Given the description of an element on the screen output the (x, y) to click on. 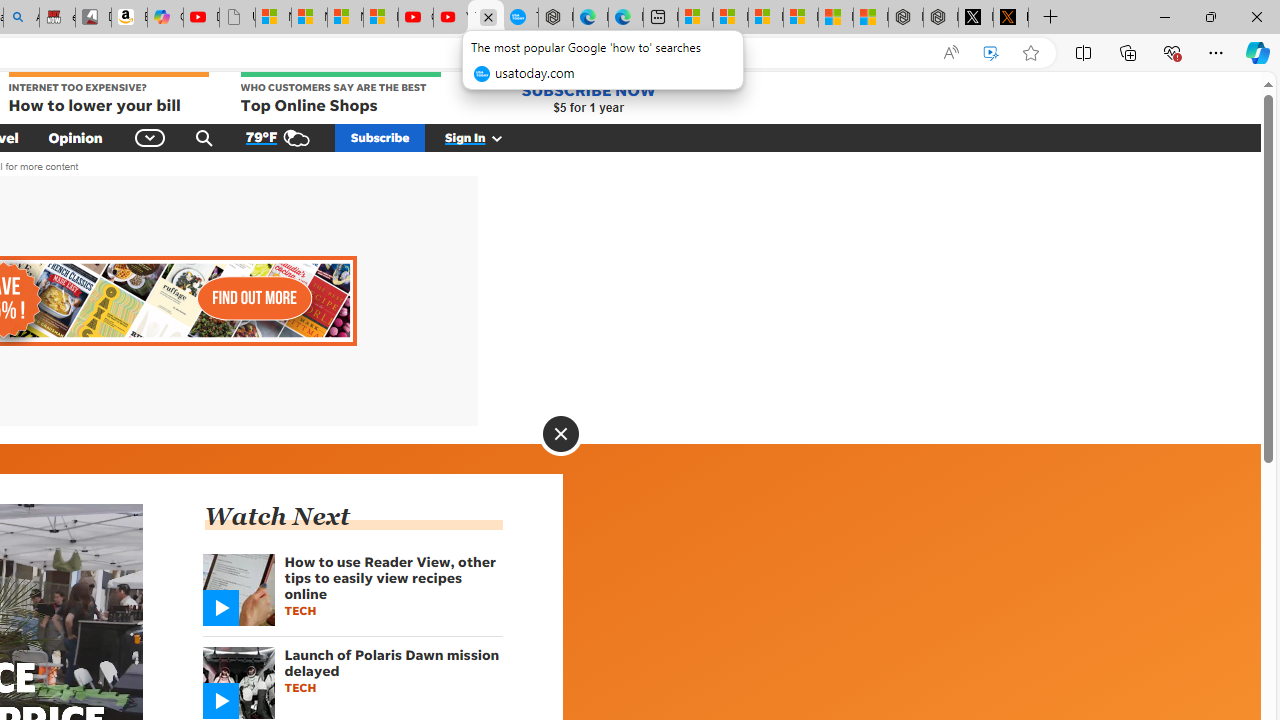
The most popular Google 'how to' searches (520, 17)
